Given the description of an element on the screen output the (x, y) to click on. 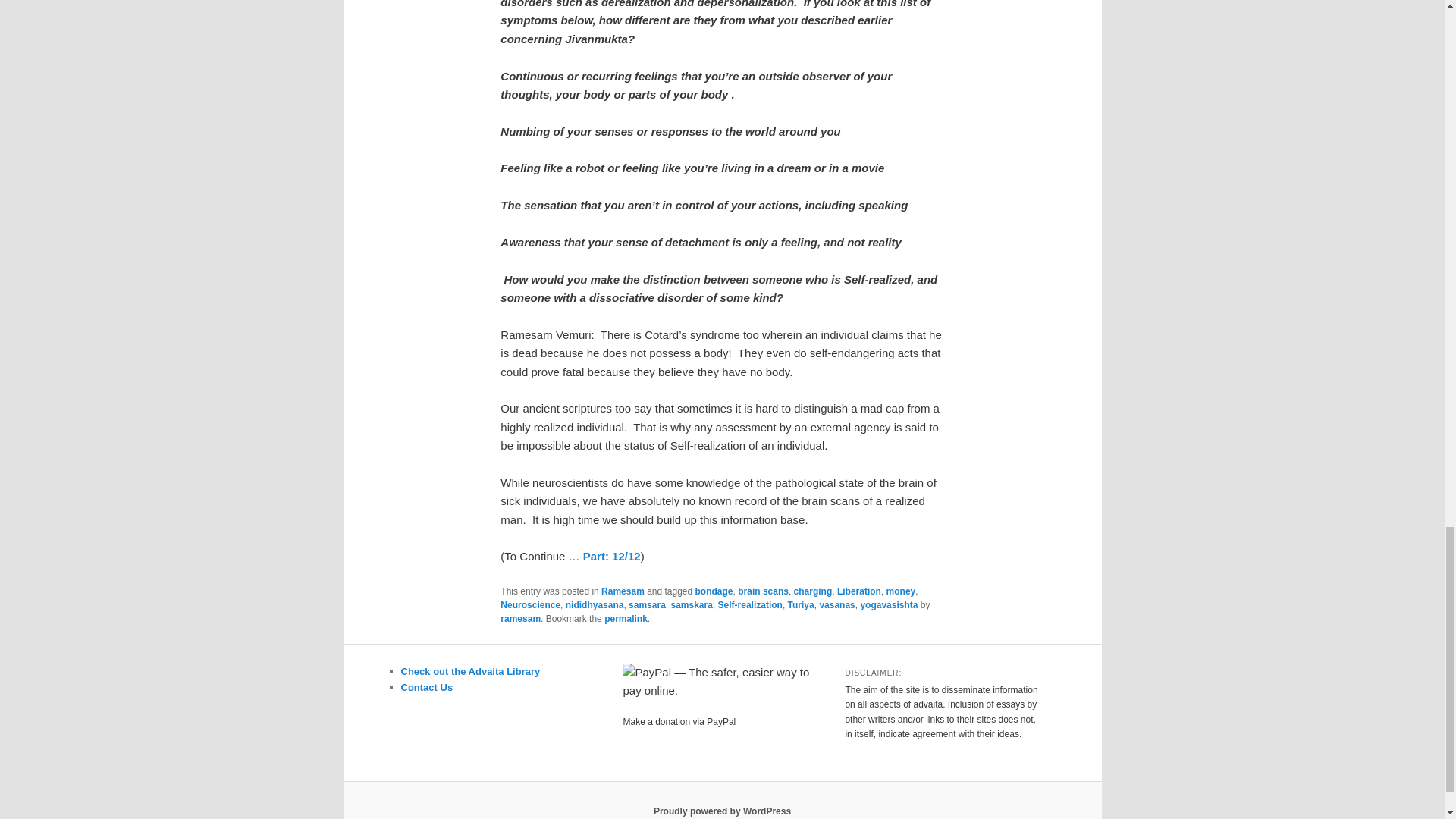
Provide suggestions, report problems etc (426, 686)
Semantic Personal Publishing Platform (721, 810)
